Given the description of an element on the screen output the (x, y) to click on. 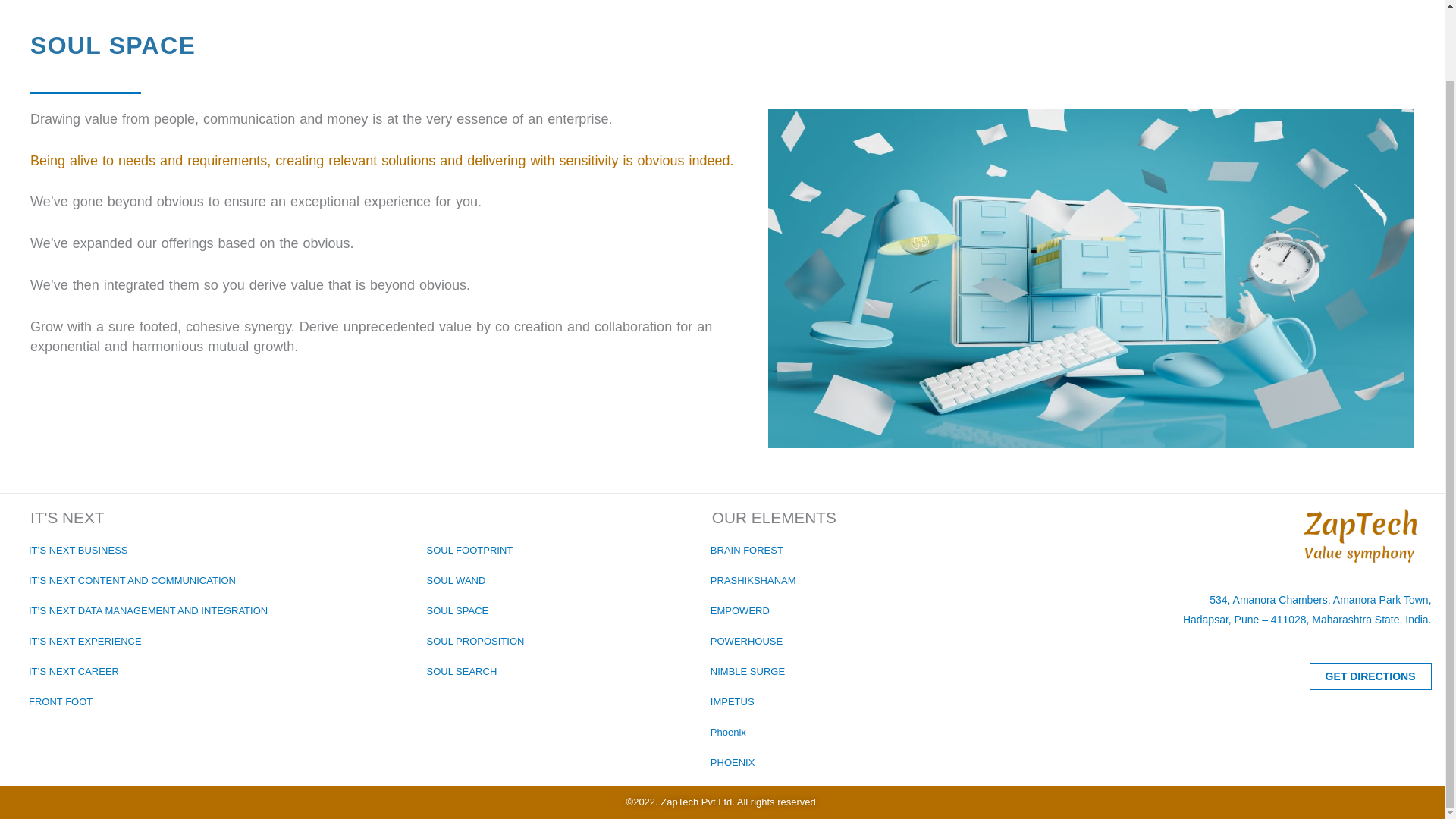
SOUL WAND (453, 580)
EMPOWERD (737, 611)
NIMBLE SURGE (744, 671)
FRONT FOOT (58, 702)
PRASHIKSHANAM (750, 580)
Phoenix (724, 732)
SOUL PROPOSITION (472, 641)
SOUL FOOTPRINT (466, 550)
SOUL SPACE (454, 611)
IMPETUS (729, 702)
POWERHOUSE (743, 641)
BRAIN FOREST (743, 550)
PHOENIX (729, 762)
SOUL SEARCH (458, 671)
